Given the description of an element on the screen output the (x, y) to click on. 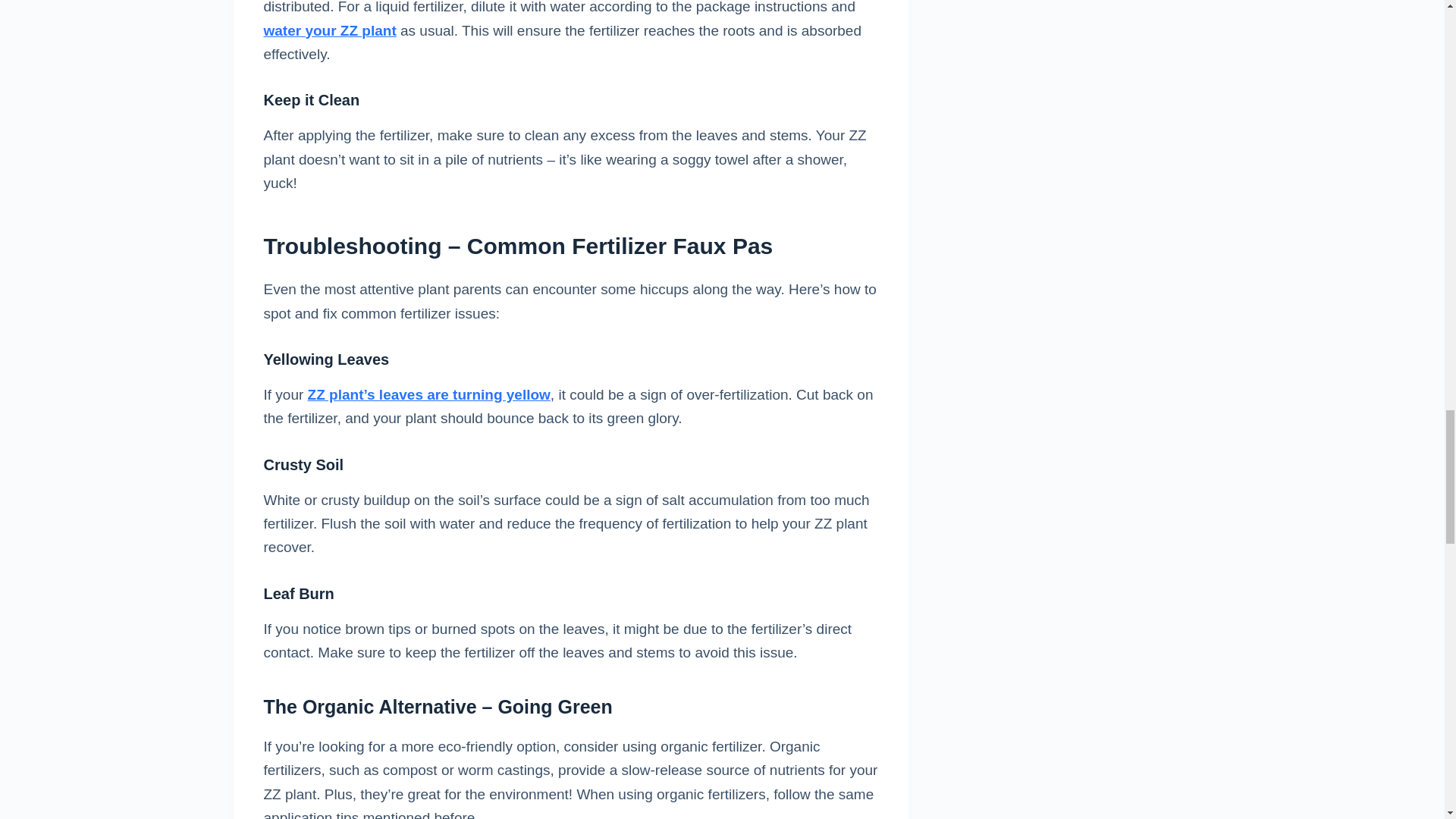
water your ZZ plant (329, 30)
